Given the description of an element on the screen output the (x, y) to click on. 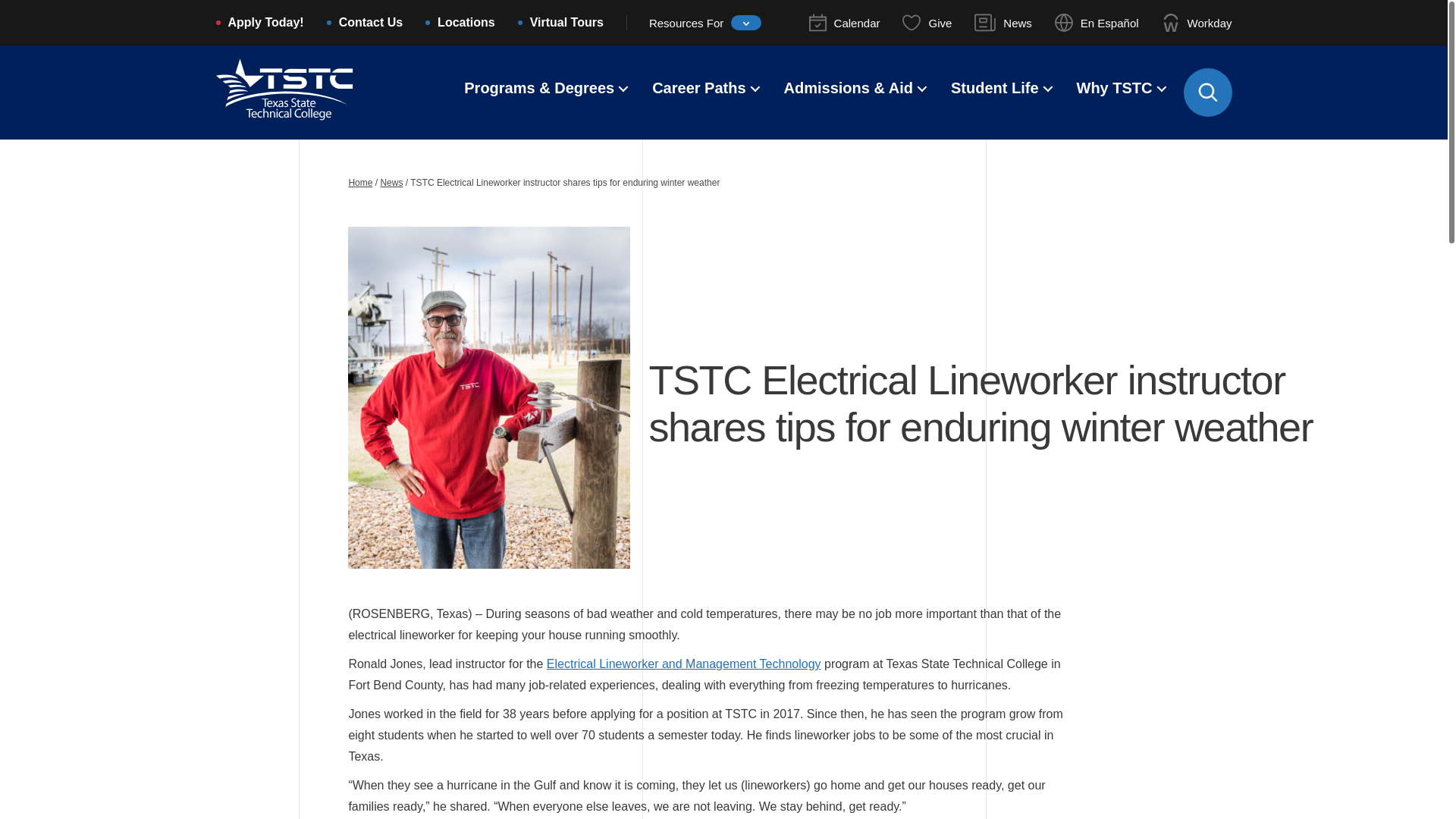
News (1003, 22)
Give (927, 22)
Apply Today! (264, 23)
Calendar (844, 22)
Student Life (994, 89)
Career Paths (698, 89)
Contact Us (371, 23)
Workday (1196, 22)
Locations (466, 23)
Virtual Tours (566, 23)
